Given the description of an element on the screen output the (x, y) to click on. 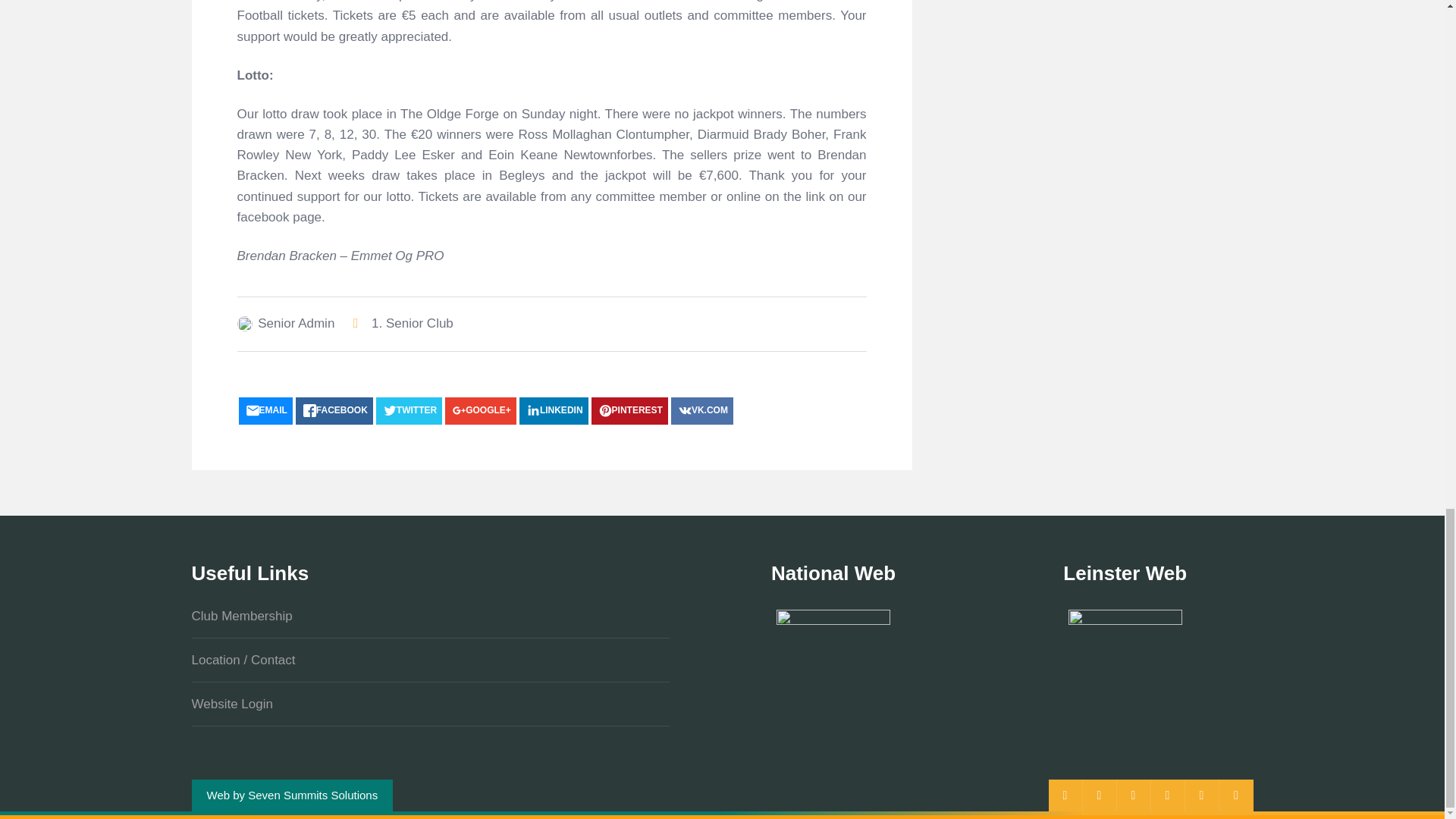
National Web (832, 666)
Leinster Web (1125, 666)
